Given the description of an element on the screen output the (x, y) to click on. 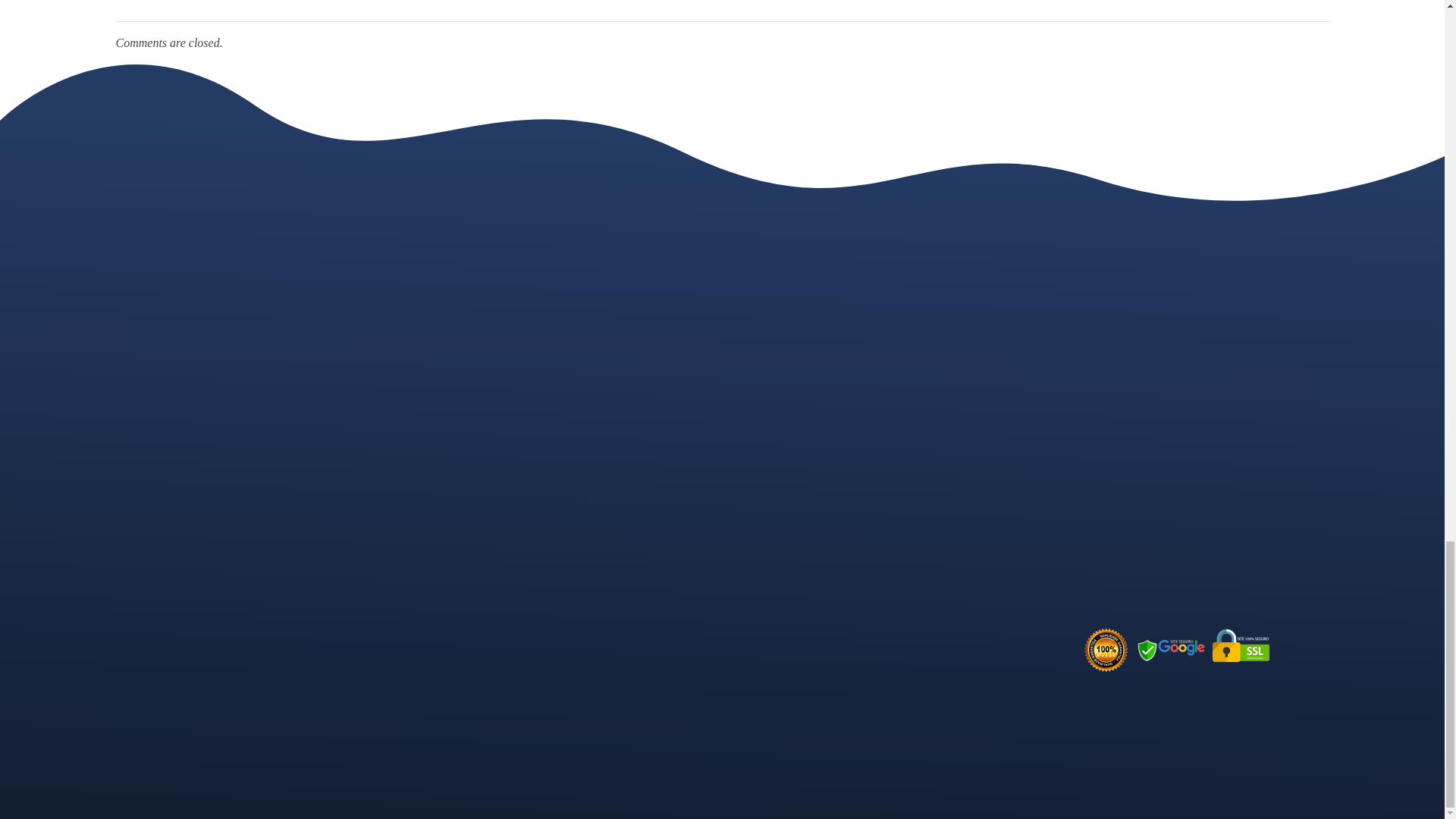
Me ligue (1259, 364)
